Given the description of an element on the screen output the (x, y) to click on. 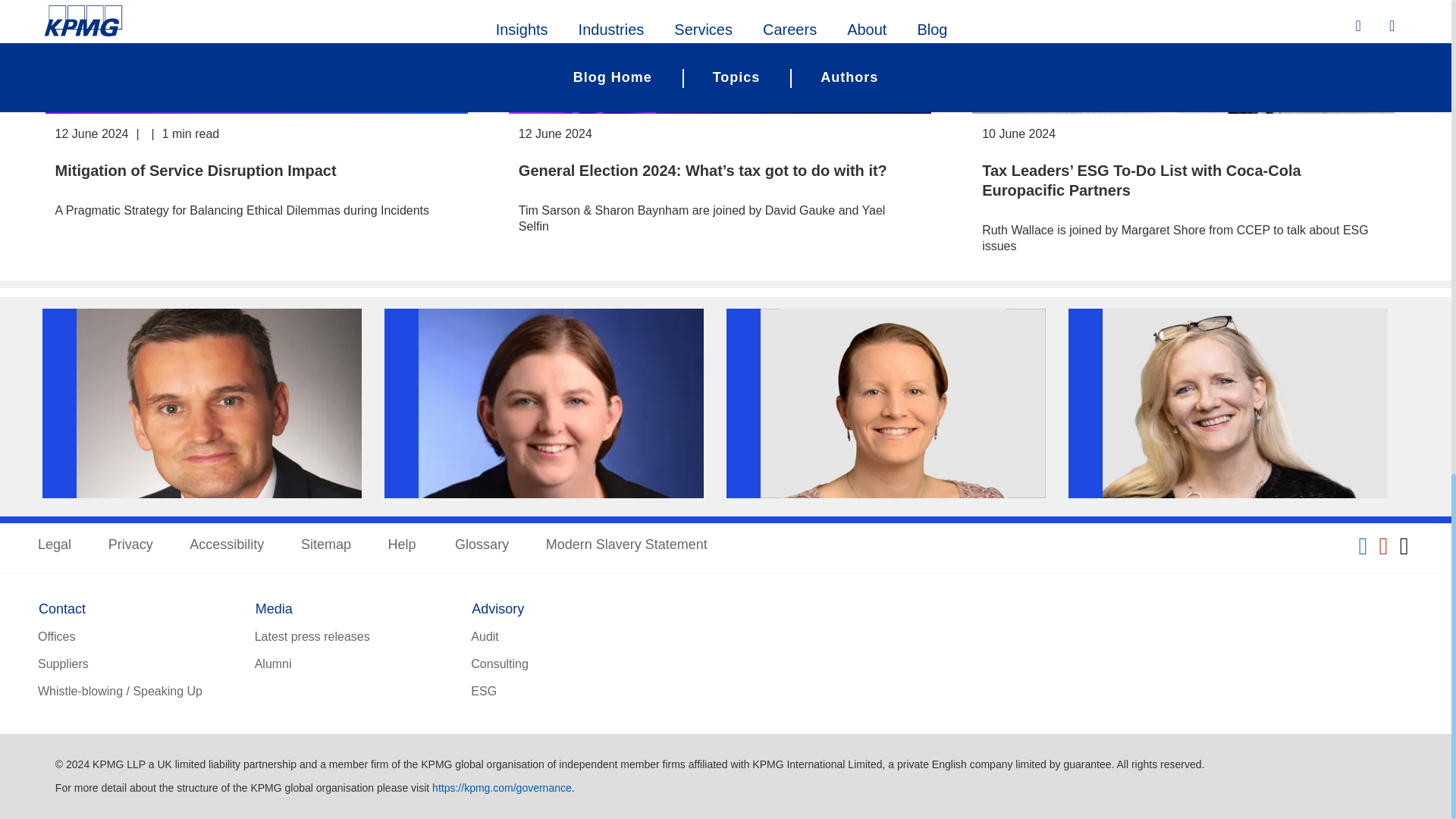
Privacy (129, 545)
Sitemap (325, 545)
Accessibility (226, 545)
Legal (54, 545)
